Given the description of an element on the screen output the (x, y) to click on. 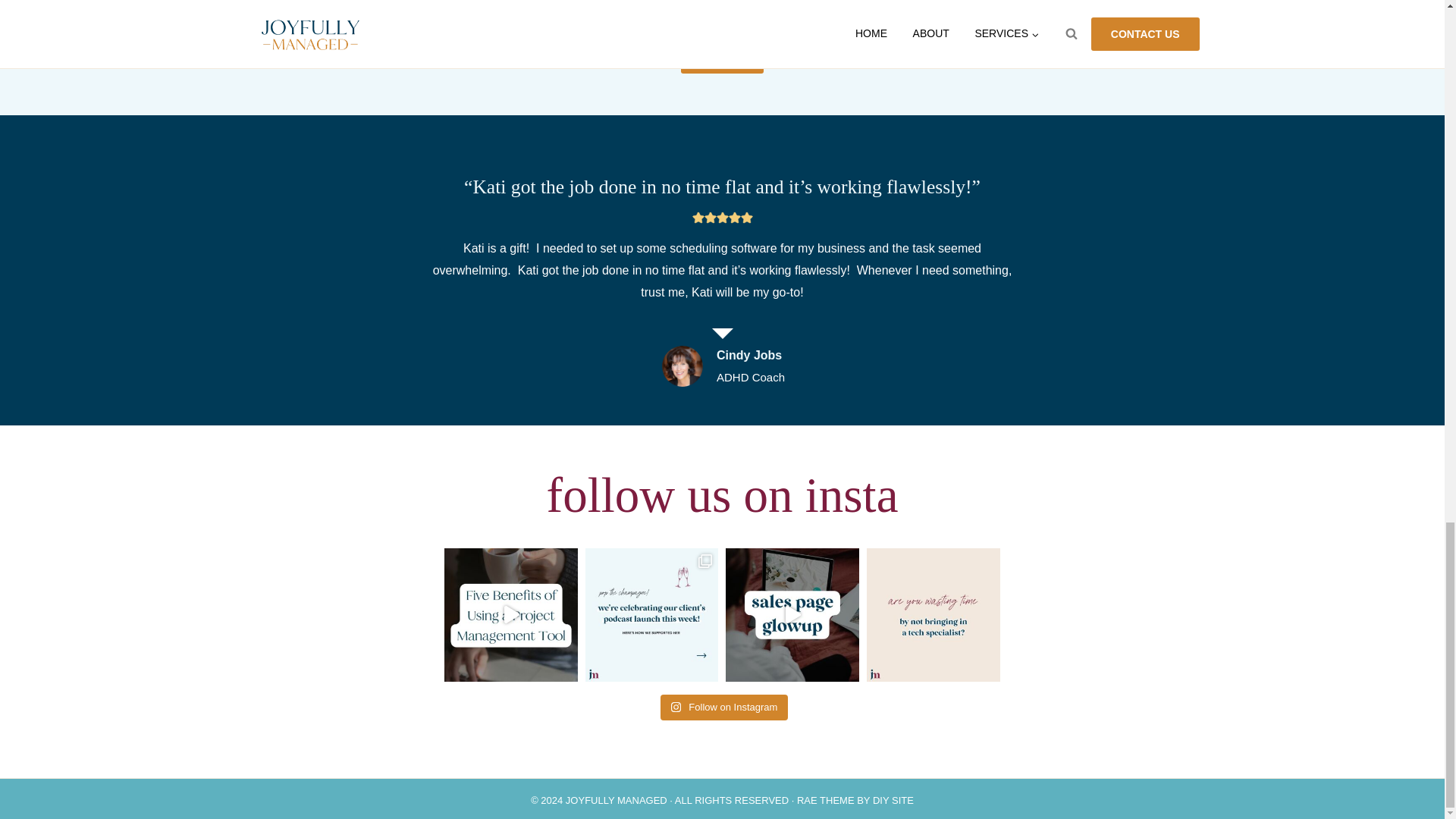
BOOK NOW (721, 61)
Follow on Instagram (725, 707)
